Given the description of an element on the screen output the (x, y) to click on. 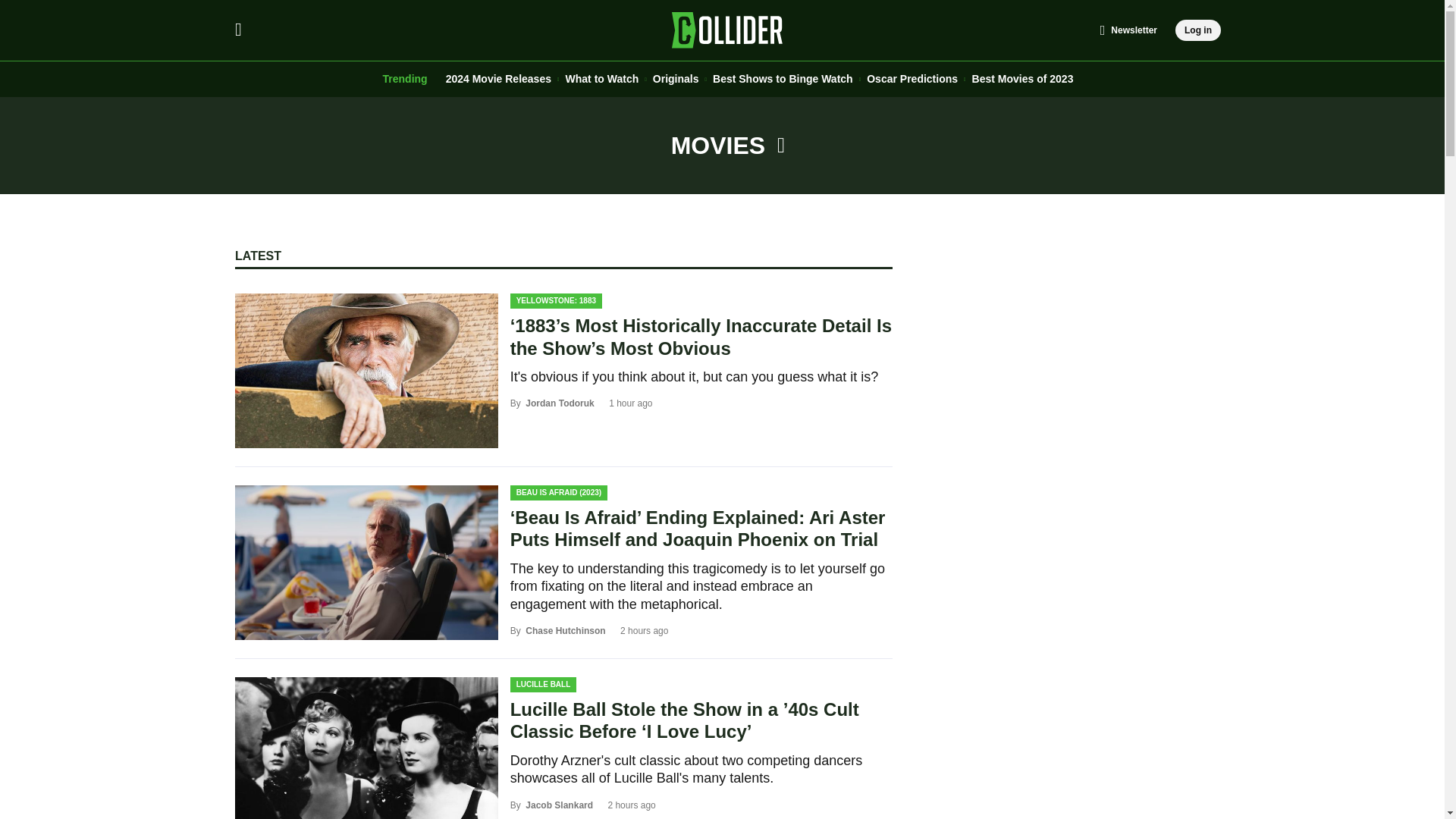
Posts by Jordan Todoruk (559, 403)
Posts by Jacob Slankard  (560, 805)
2024 Movie Releases (498, 79)
Best Movies of 2023 (1023, 79)
Best Shows to Binge Watch (783, 79)
Originals (675, 79)
Posts by Chase Hutchinson (565, 630)
Newsletter (1128, 30)
Collider (727, 30)
Oscar Predictions (912, 79)
